Given the description of an element on the screen output the (x, y) to click on. 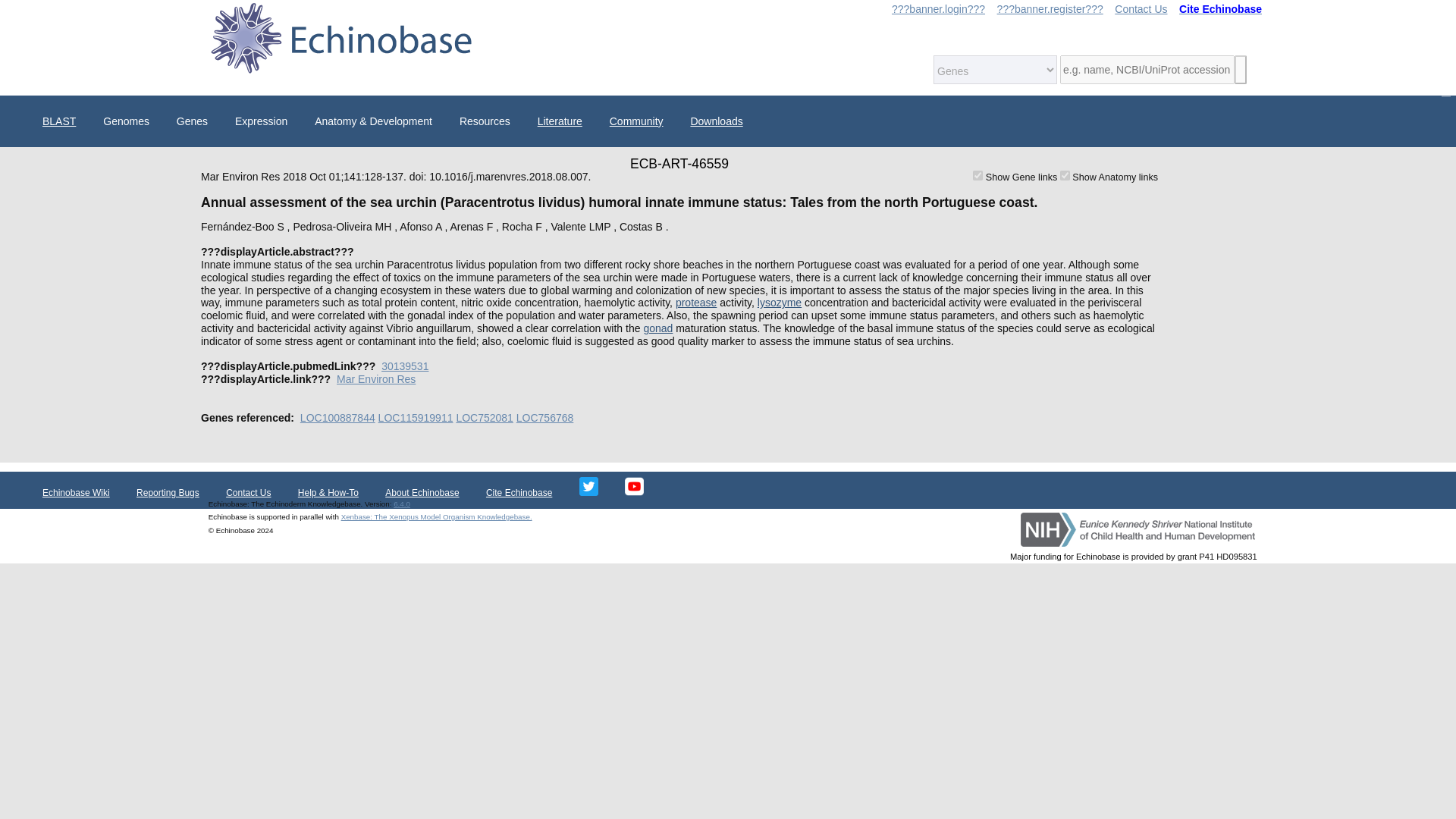
???banner.register??? (1050, 9)
YouTube (634, 486)
Genomes (125, 121)
Genes (191, 121)
???banner.login??? (938, 9)
BLAST (58, 121)
Contact Us (1141, 9)
Twitter (588, 486)
Cite Echinobase (1220, 9)
on (1064, 175)
Expression (260, 121)
on (977, 175)
